Given the description of an element on the screen output the (x, y) to click on. 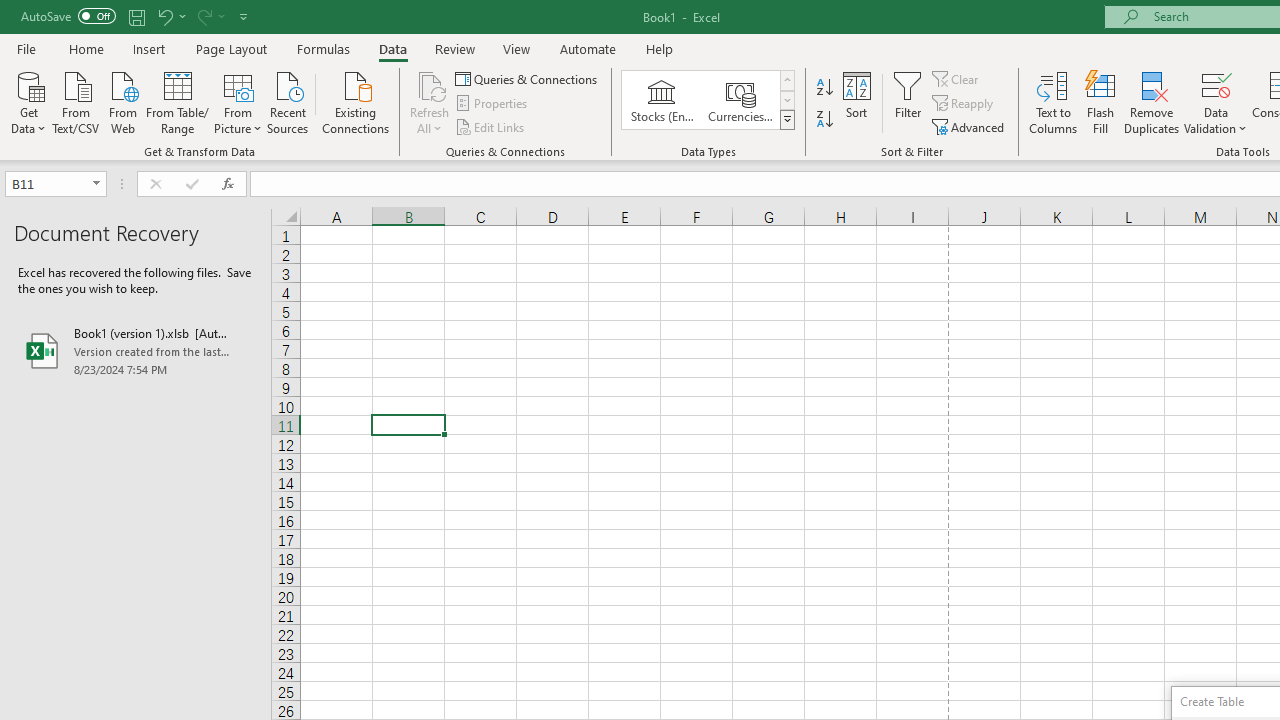
From Table/Range (177, 101)
Data (392, 48)
Open (96, 183)
Properties (492, 103)
Existing Connections (355, 101)
Row up (786, 79)
Currencies (English) (740, 100)
Book1 (version 1).xlsb  [AutoRecovered] (136, 350)
Remove Duplicates (1151, 102)
Sort A to Z (824, 87)
Automate (588, 48)
Reapply (964, 103)
Help (660, 48)
